Given the description of an element on the screen output the (x, y) to click on. 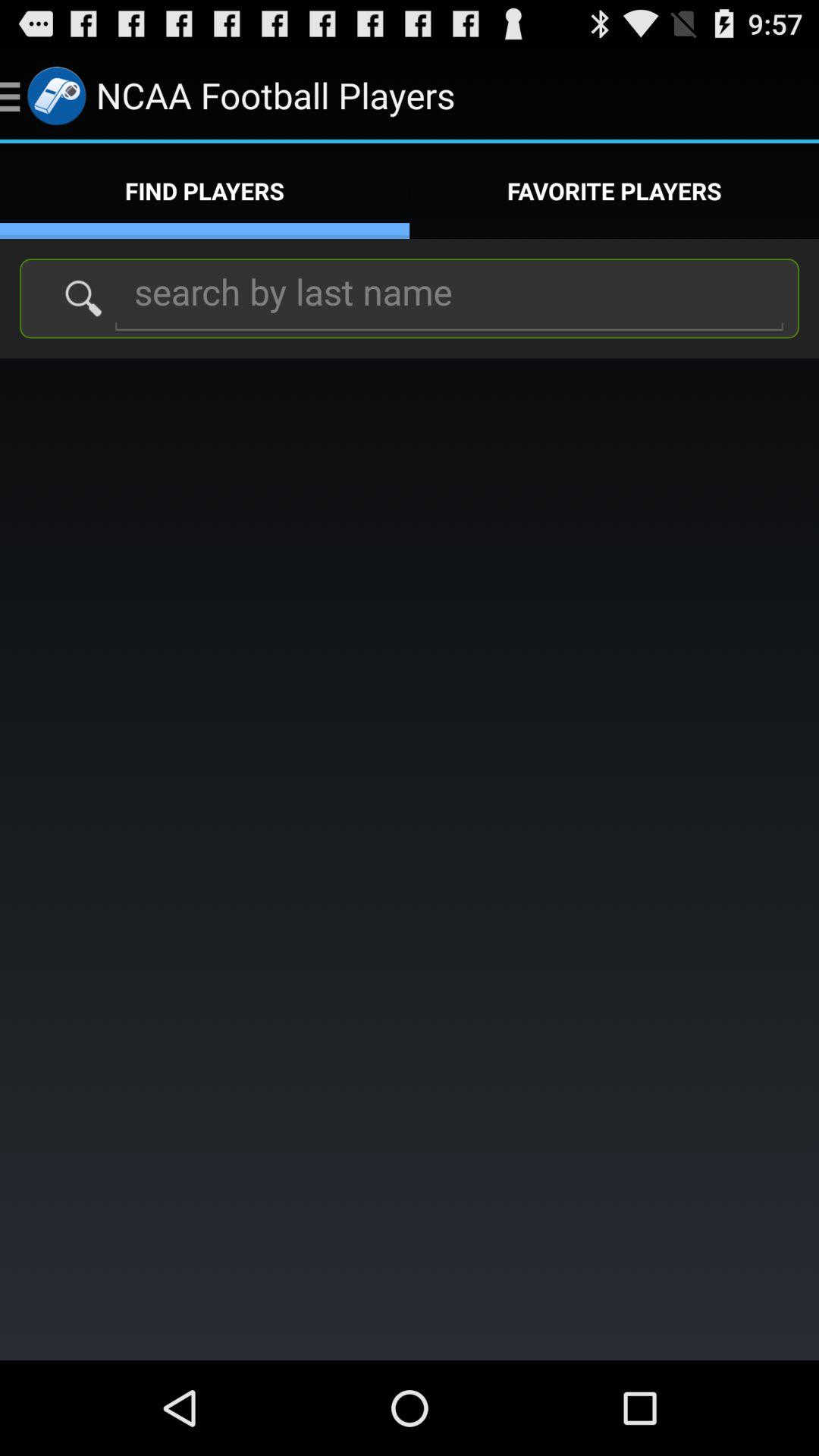
scroll until the find players item (204, 190)
